Given the description of an element on the screen output the (x, y) to click on. 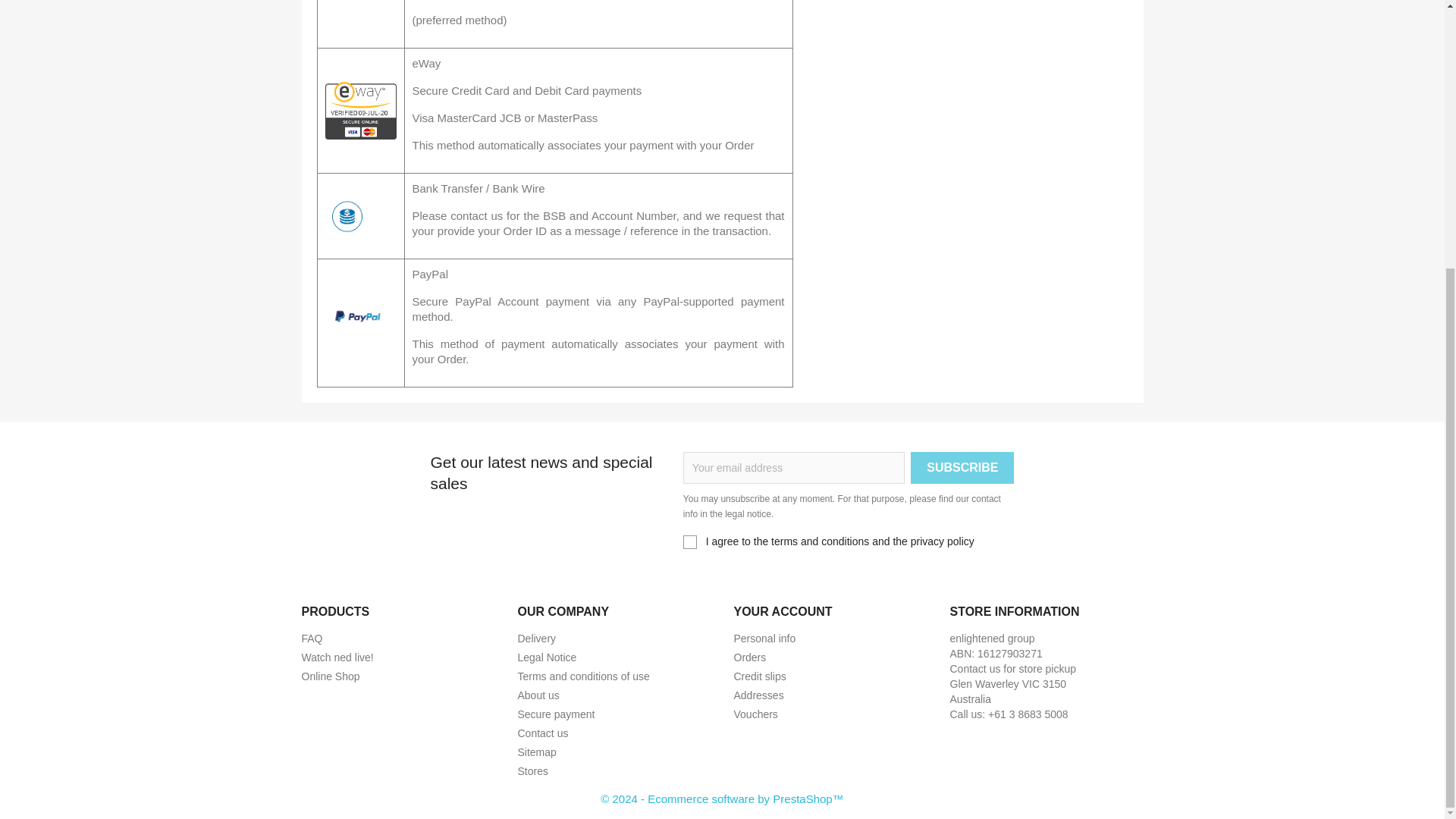
Stores (531, 770)
About us (537, 695)
Addresses (758, 695)
Subscribe (962, 468)
Personal info (764, 637)
Frequently Asked Questions (312, 637)
Contact us (541, 733)
FAQ (312, 637)
Watch ned live! (337, 657)
Addresses (758, 695)
